Given the description of an element on the screen output the (x, y) to click on. 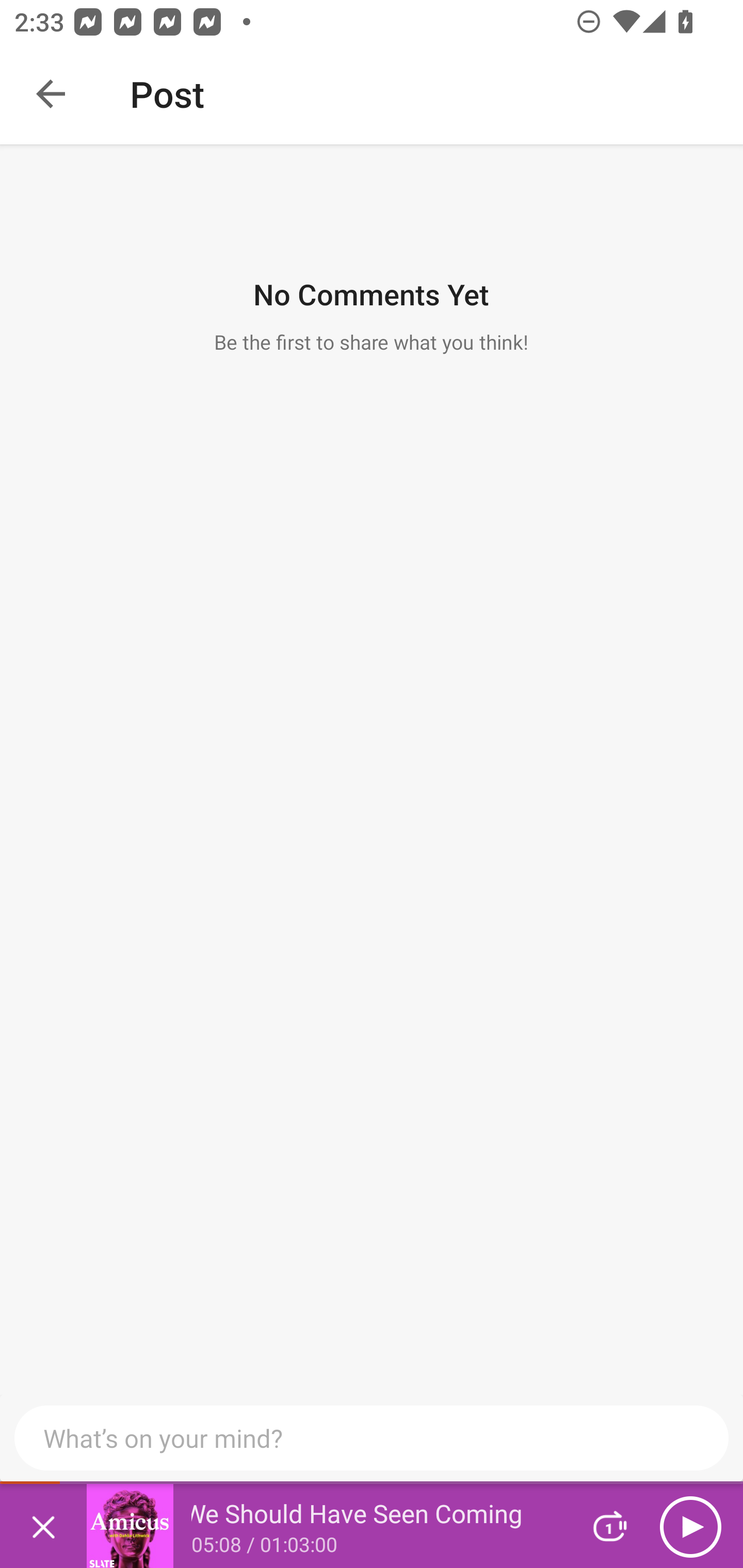
Navigate up (50, 93)
What’s on your mind? (371, 1437)
Play (690, 1526)
